Given the description of an element on the screen output the (x, y) to click on. 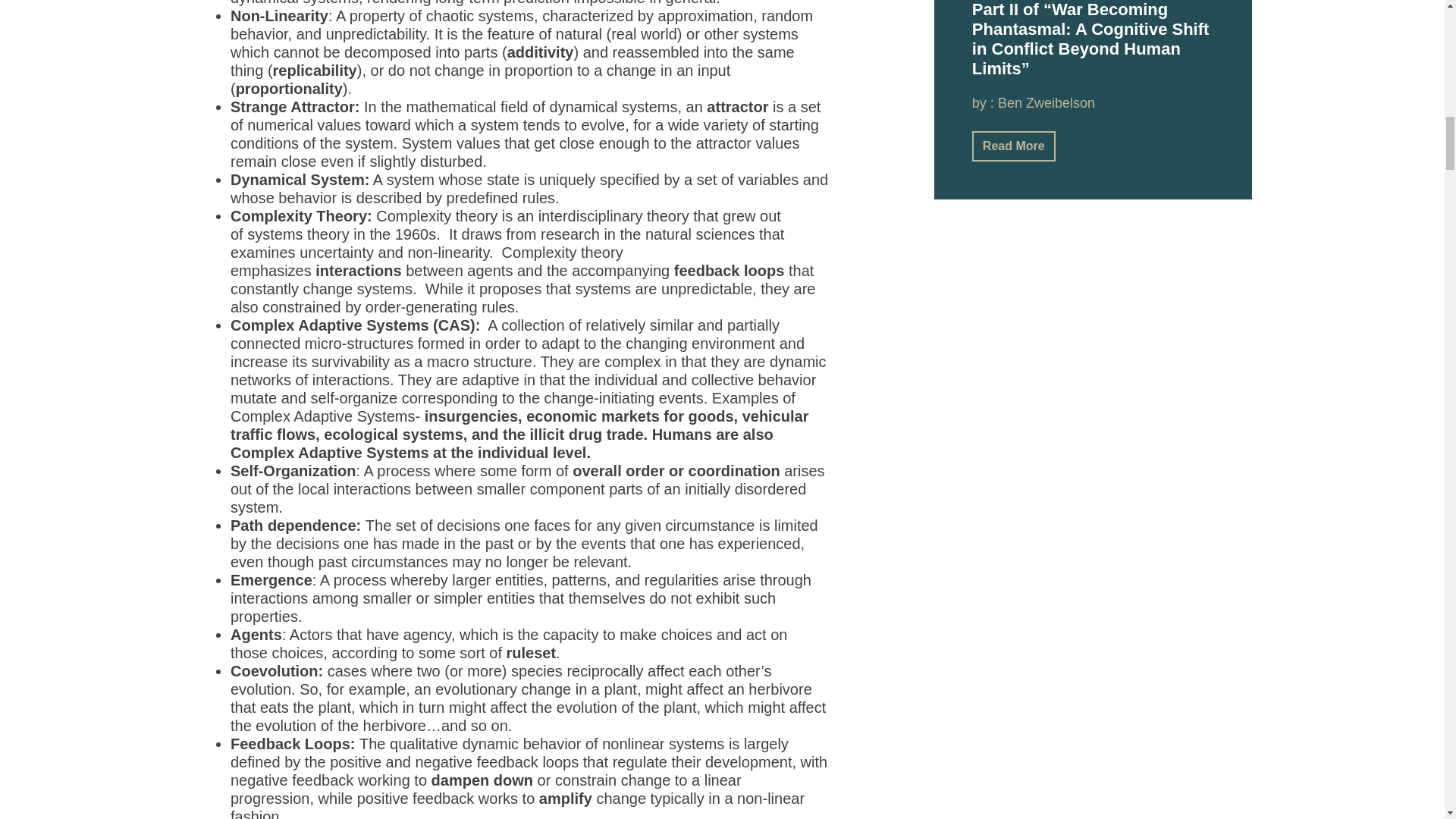
Posts by Ben Zweibelson (1045, 102)
Ben Zweibelson (1045, 102)
Read More (1013, 145)
